Given the description of an element on the screen output the (x, y) to click on. 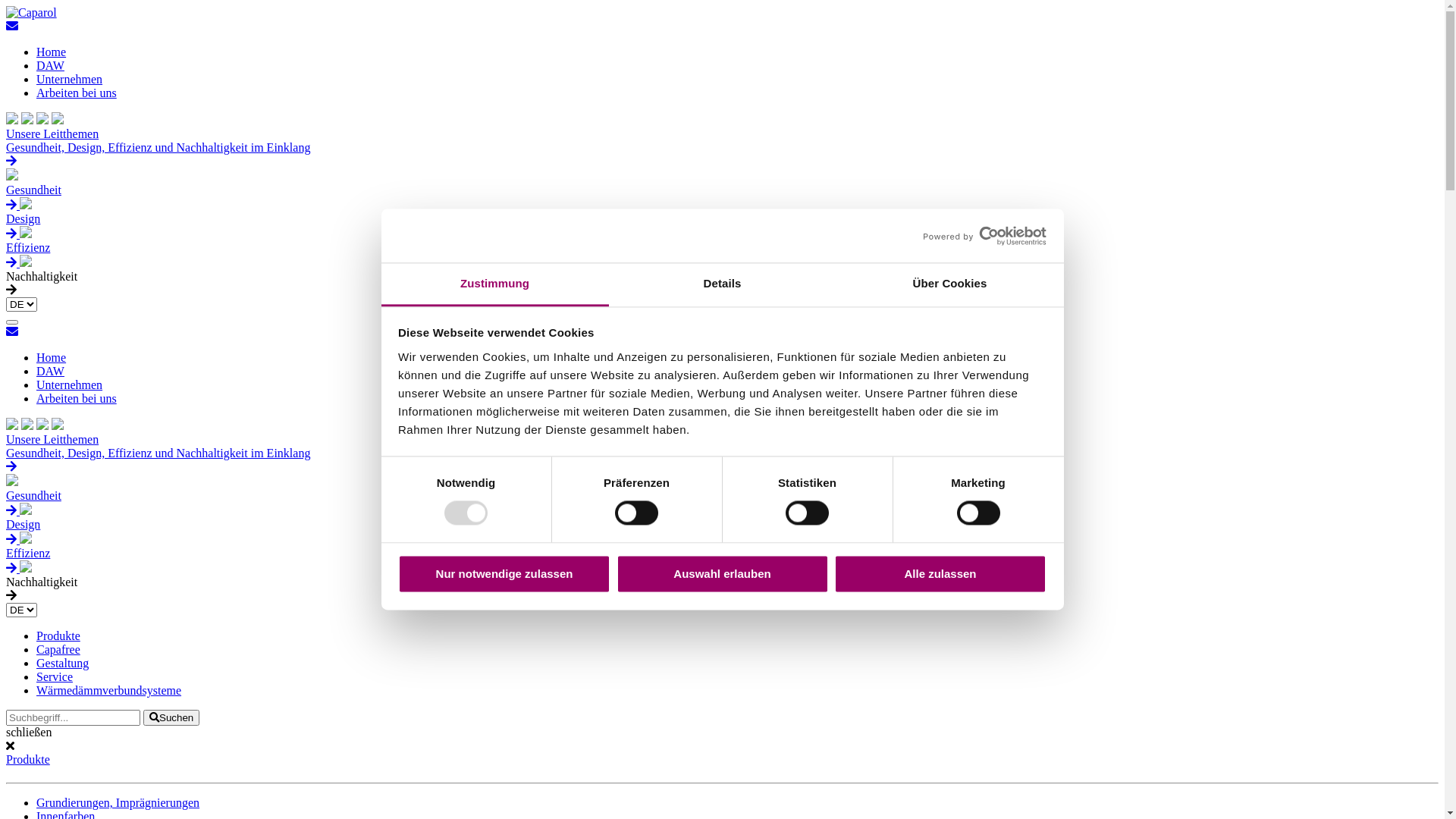
Home Element type: text (50, 357)
Gestaltung Element type: text (62, 662)
Capafree Element type: text (58, 649)
DAW Element type: text (50, 65)
Details Element type: text (721, 284)
Gesundheit Element type: text (722, 496)
Suchen Element type: text (171, 717)
Alle zulassen Element type: text (940, 573)
Unternehmen Element type: text (69, 384)
Service Element type: text (54, 676)
Design Element type: text (722, 525)
Gesundheit Element type: text (722, 190)
DAW Element type: text (50, 370)
Effizienz Element type: text (722, 248)
Design Element type: text (722, 219)
Caparol Element type: hover (31, 12)
Produkte Element type: text (58, 635)
Arbeiten bei uns Element type: text (76, 92)
Produkte Element type: text (28, 759)
Unternehmen Element type: text (69, 78)
Home Element type: text (50, 51)
Effizienz Element type: text (722, 553)
Arbeiten bei uns Element type: text (76, 398)
Nur notwendige zulassen Element type: text (504, 573)
Zustimmung Element type: text (494, 284)
Auswahl erlauben Element type: text (721, 573)
